Given the description of an element on the screen output the (x, y) to click on. 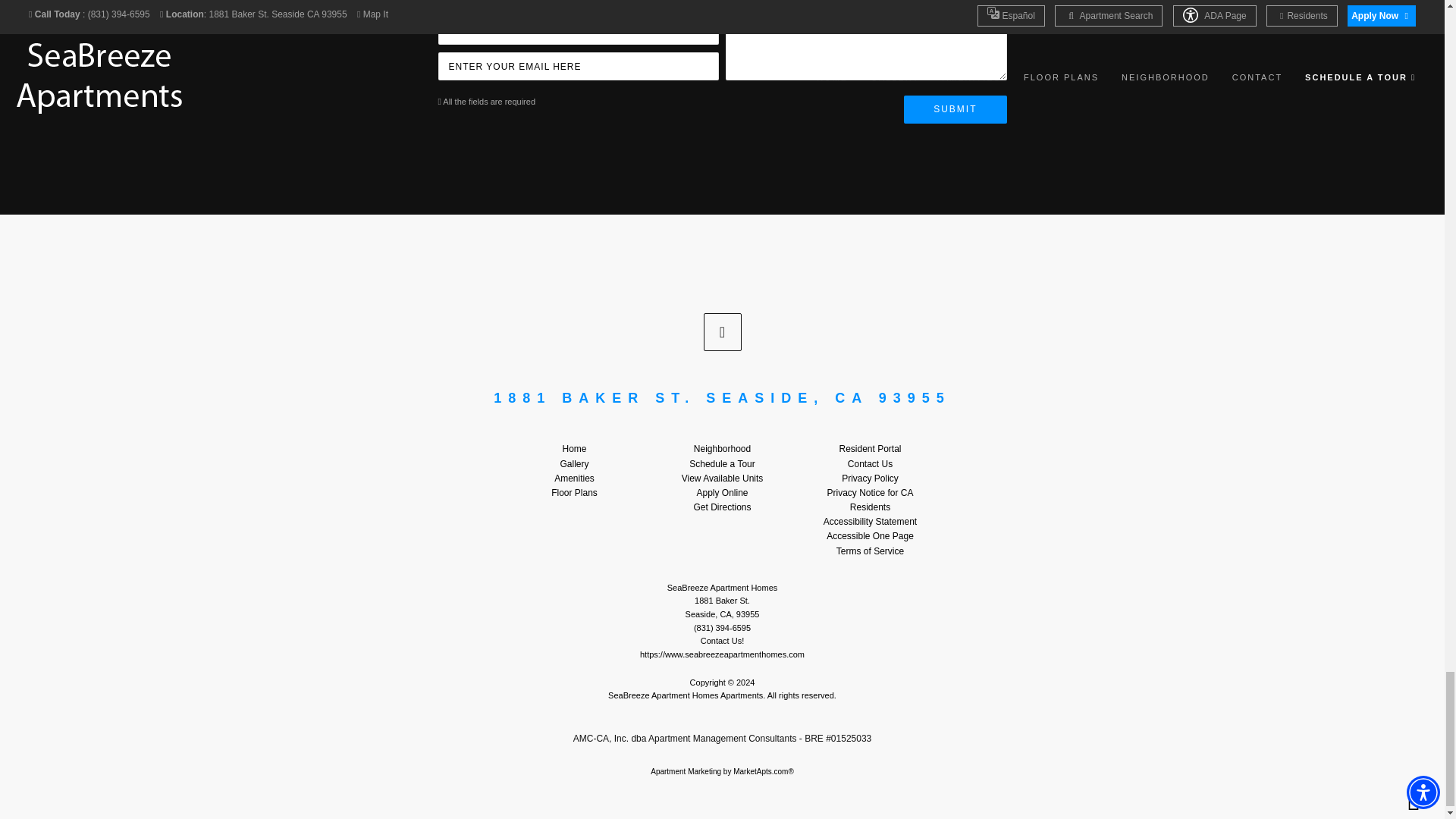
SUBMIT (955, 109)
SeaBreeze Apartment Homes Apartments' google link (722, 331)
